Given the description of an element on the screen output the (x, y) to click on. 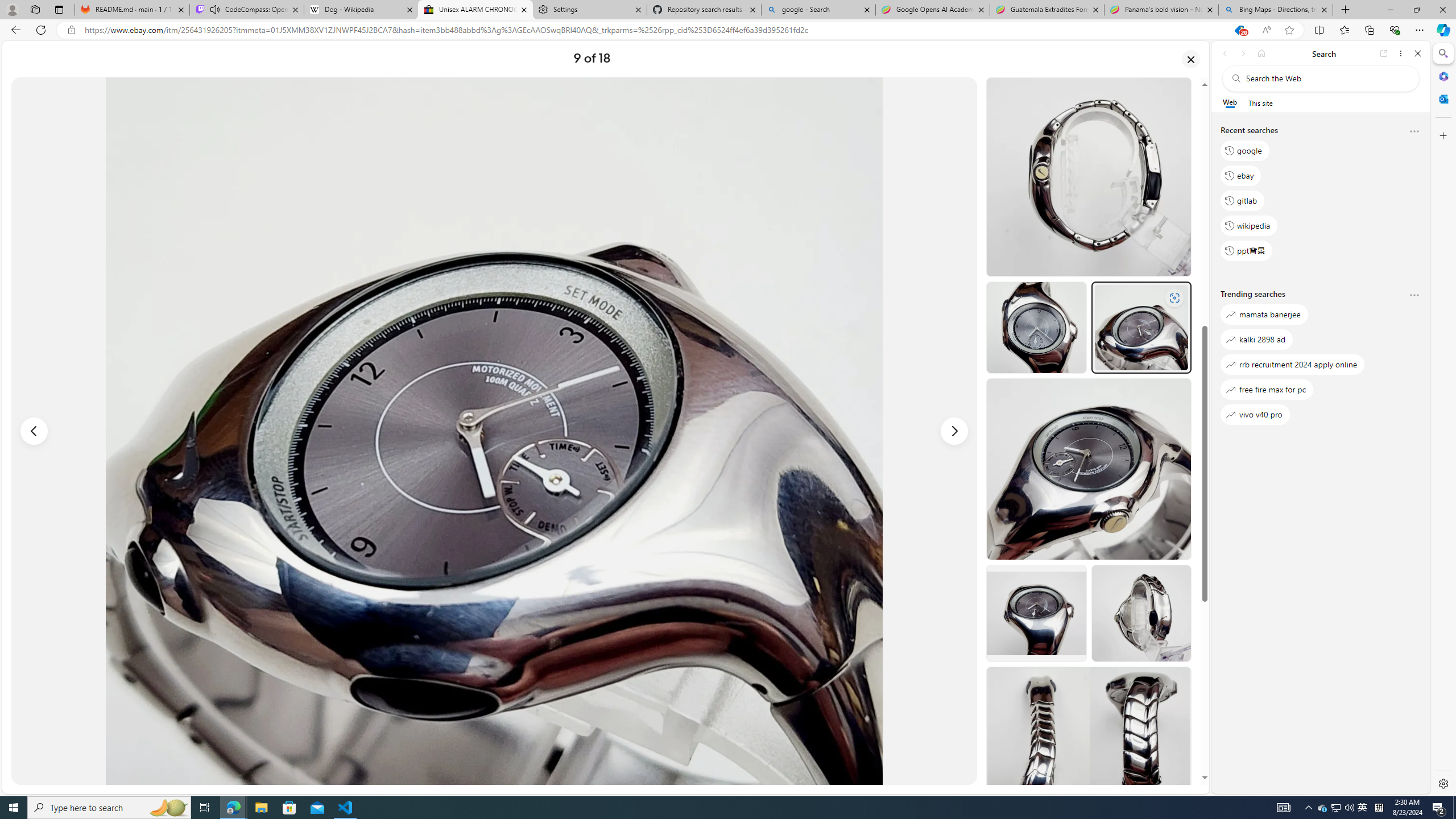
mamata banerjee (1263, 314)
